Given the description of an element on the screen output the (x, y) to click on. 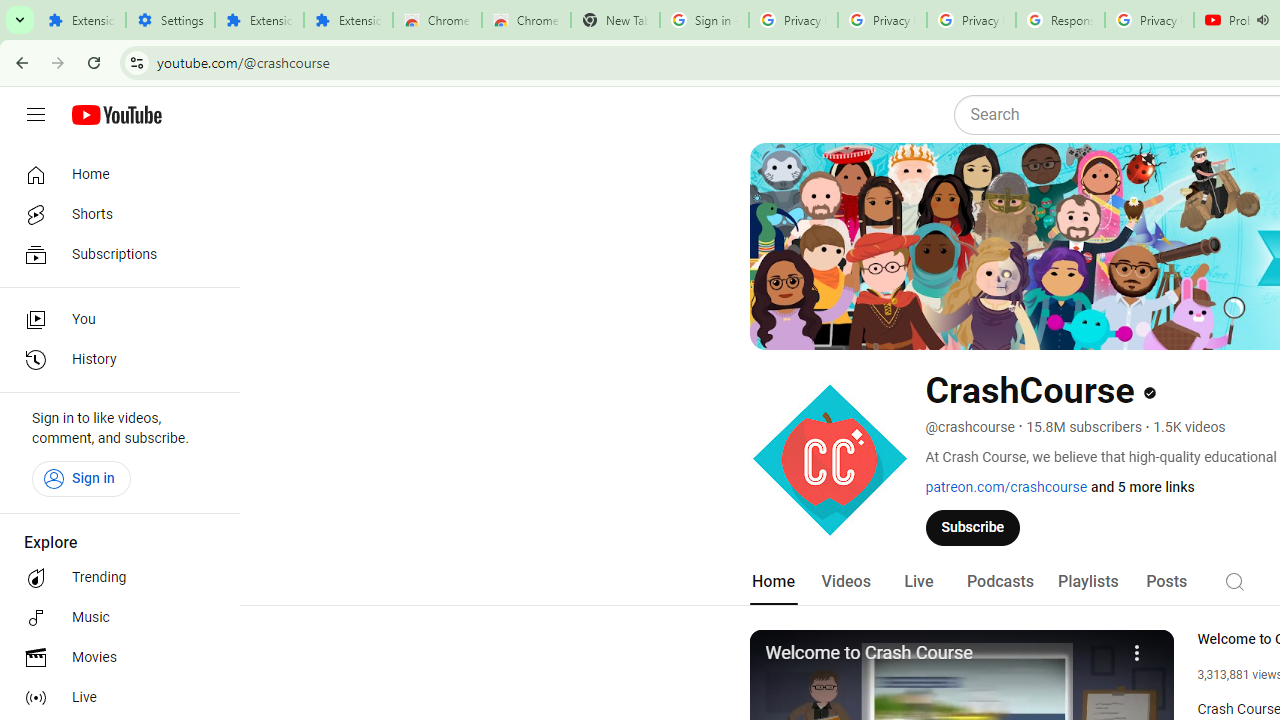
Reload (93, 62)
Subscribe (973, 527)
Shorts (113, 214)
Chrome Web Store - Themes (526, 20)
Subscriptions (113, 254)
Home (772, 581)
Settings (170, 20)
Extensions (259, 20)
YouTube Home (116, 115)
Movies (113, 657)
View site information (136, 62)
System (10, 11)
